Given the description of an element on the screen output the (x, y) to click on. 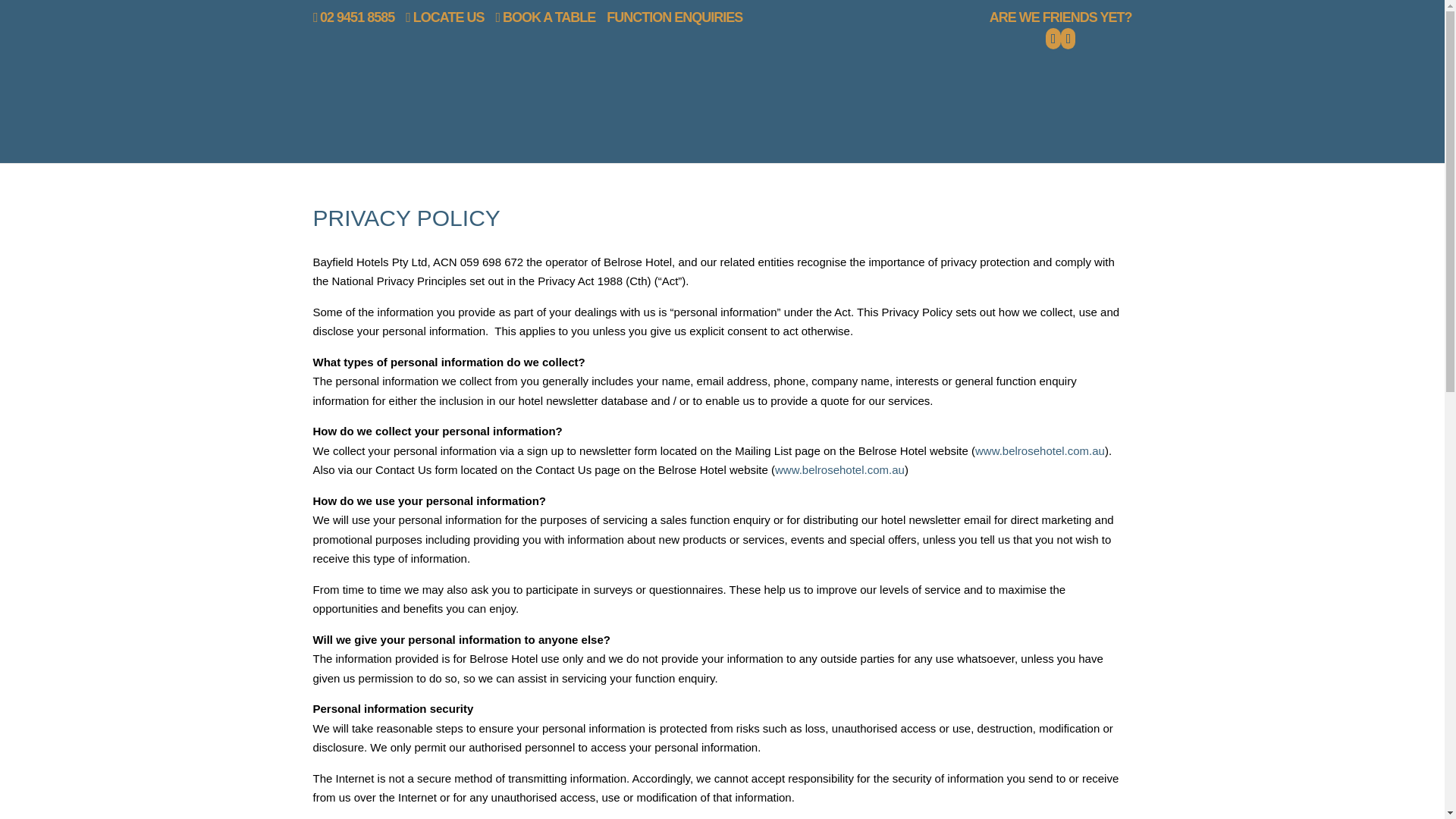
LOCATE US (444, 17)
02 9451 8585 (353, 17)
BOOK A TABLE (545, 17)
FUNCTION ENQUIRIES (674, 17)
www.belrosehotel.com.au (839, 469)
www.belrosehotel.com.au (1040, 450)
